Given the description of an element on the screen output the (x, y) to click on. 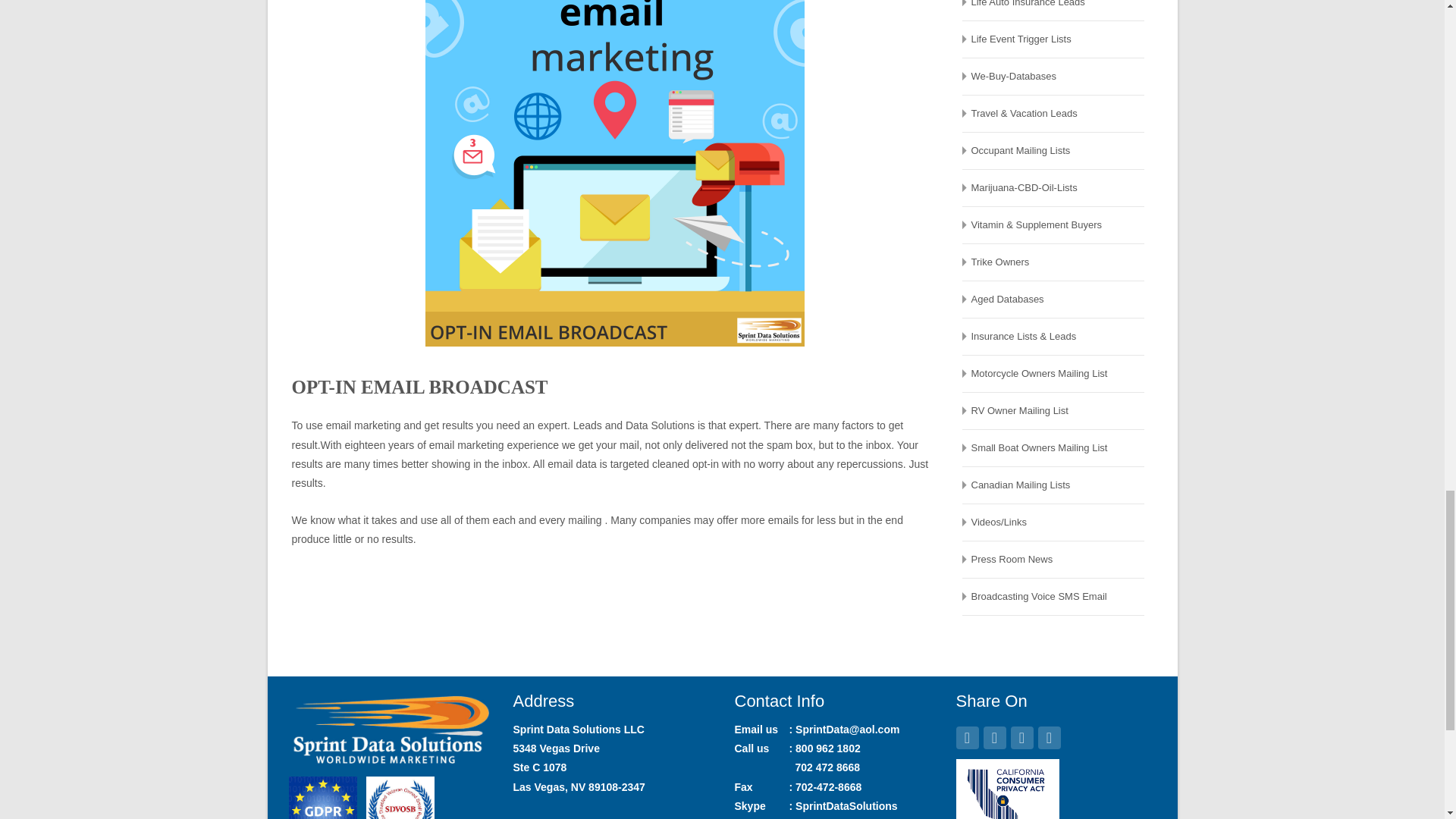
twitter (1021, 739)
facebook (966, 739)
googleplus (994, 739)
